Given the description of an element on the screen output the (x, y) to click on. 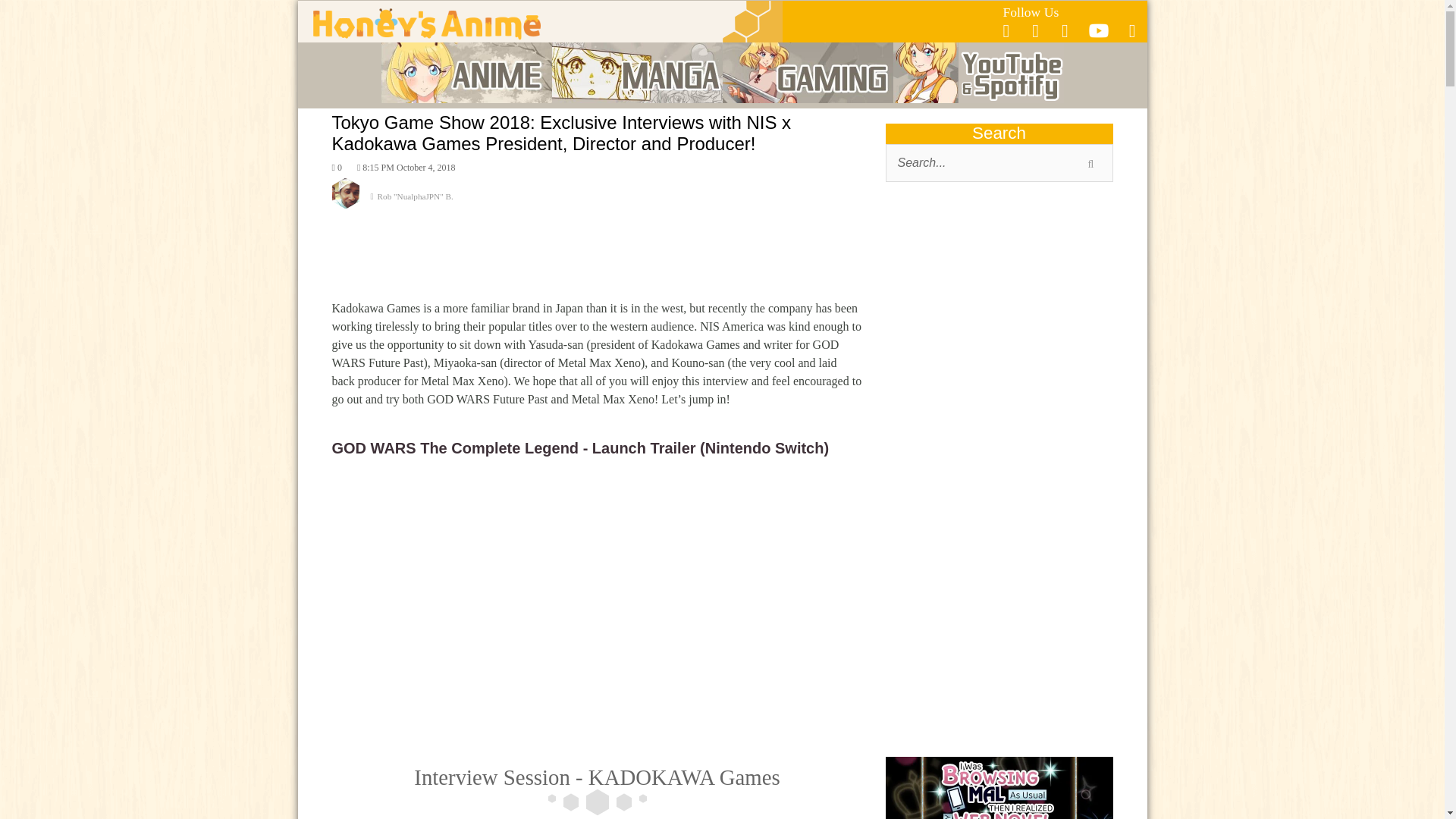
Advertisement (999, 313)
Search... (999, 162)
Rob "NualphaJPN" B. (597, 202)
Our Youtube (1098, 35)
banner-honeyfeed-malcontest (999, 787)
Search... (999, 162)
